Given the description of an element on the screen output the (x, y) to click on. 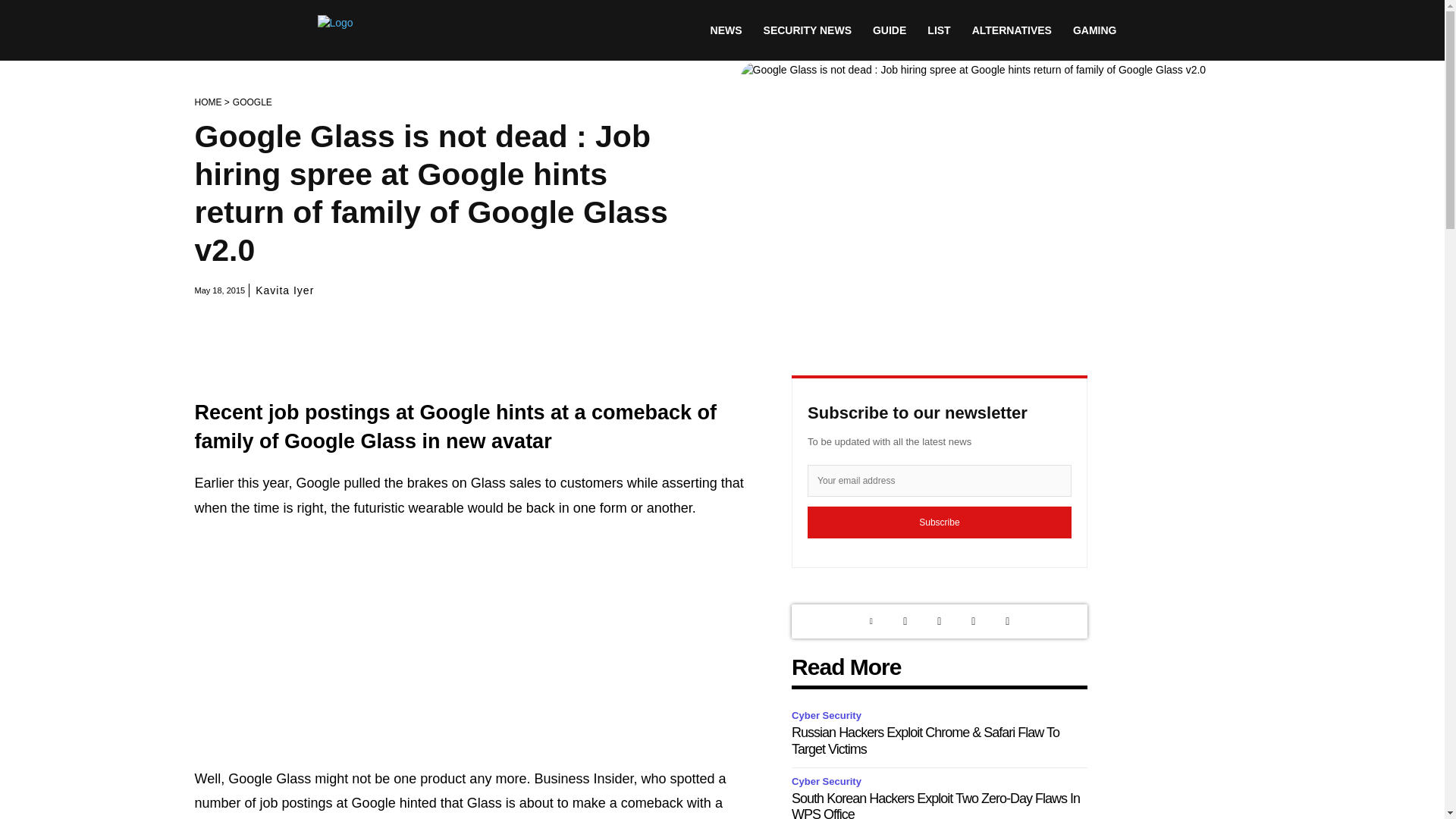
Subscribe (939, 522)
Instagram (939, 621)
Facebook (973, 621)
Cyber Security (829, 782)
Twitter (904, 621)
Kavita Iyer (285, 290)
ALTERNATIVES (1011, 30)
GOOGLE (252, 102)
View all posts in Google (252, 102)
